Given the description of an element on the screen output the (x, y) to click on. 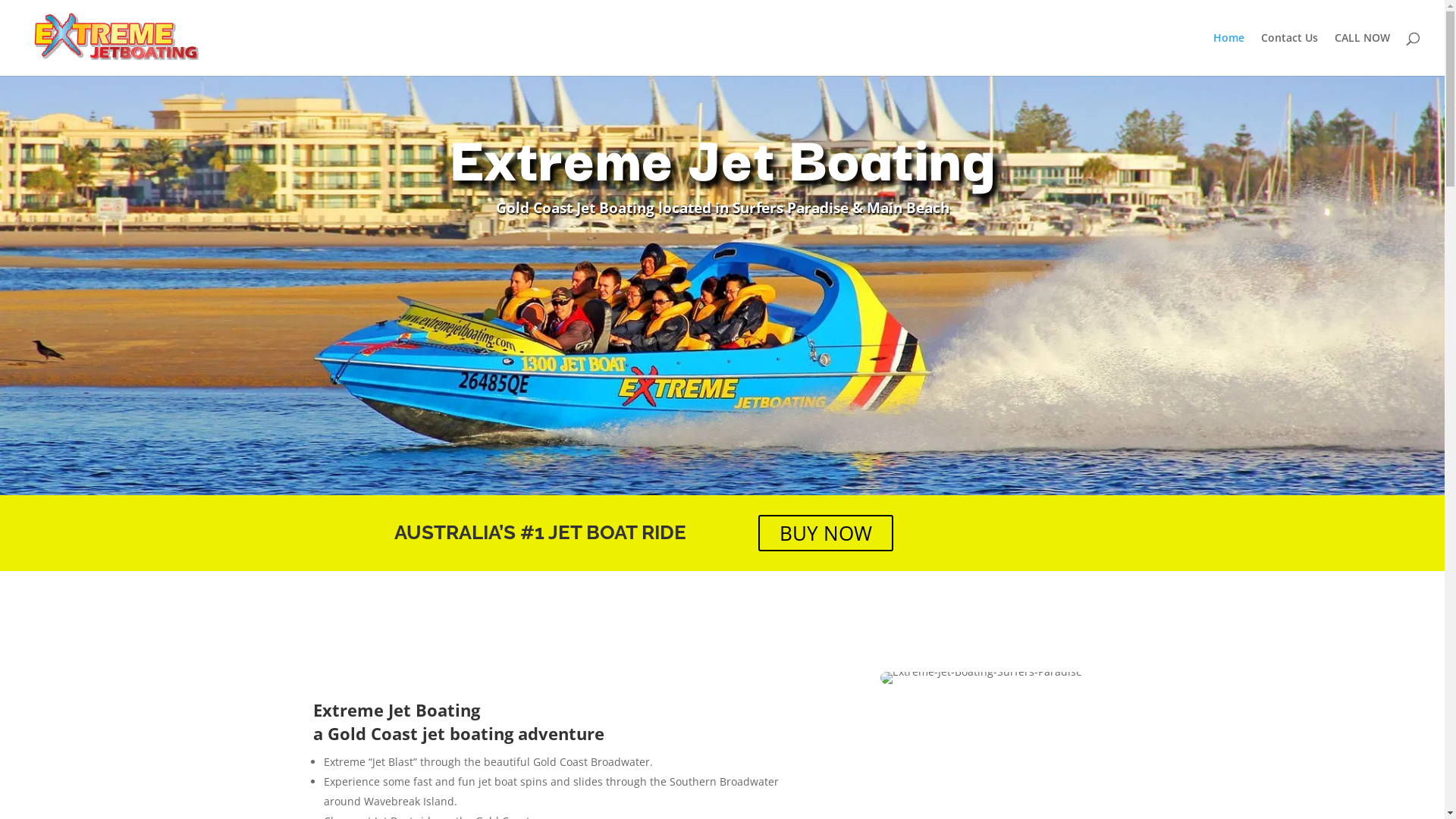
Home Element type: text (1228, 53)
CALL NOW Element type: text (1362, 53)
BUY NOW Element type: text (825, 532)
Contact Us Element type: text (1289, 53)
Extreme-Jet-Boating-Surfers-Paradise Element type: hover (981, 677)
